Given the description of an element on the screen output the (x, y) to click on. 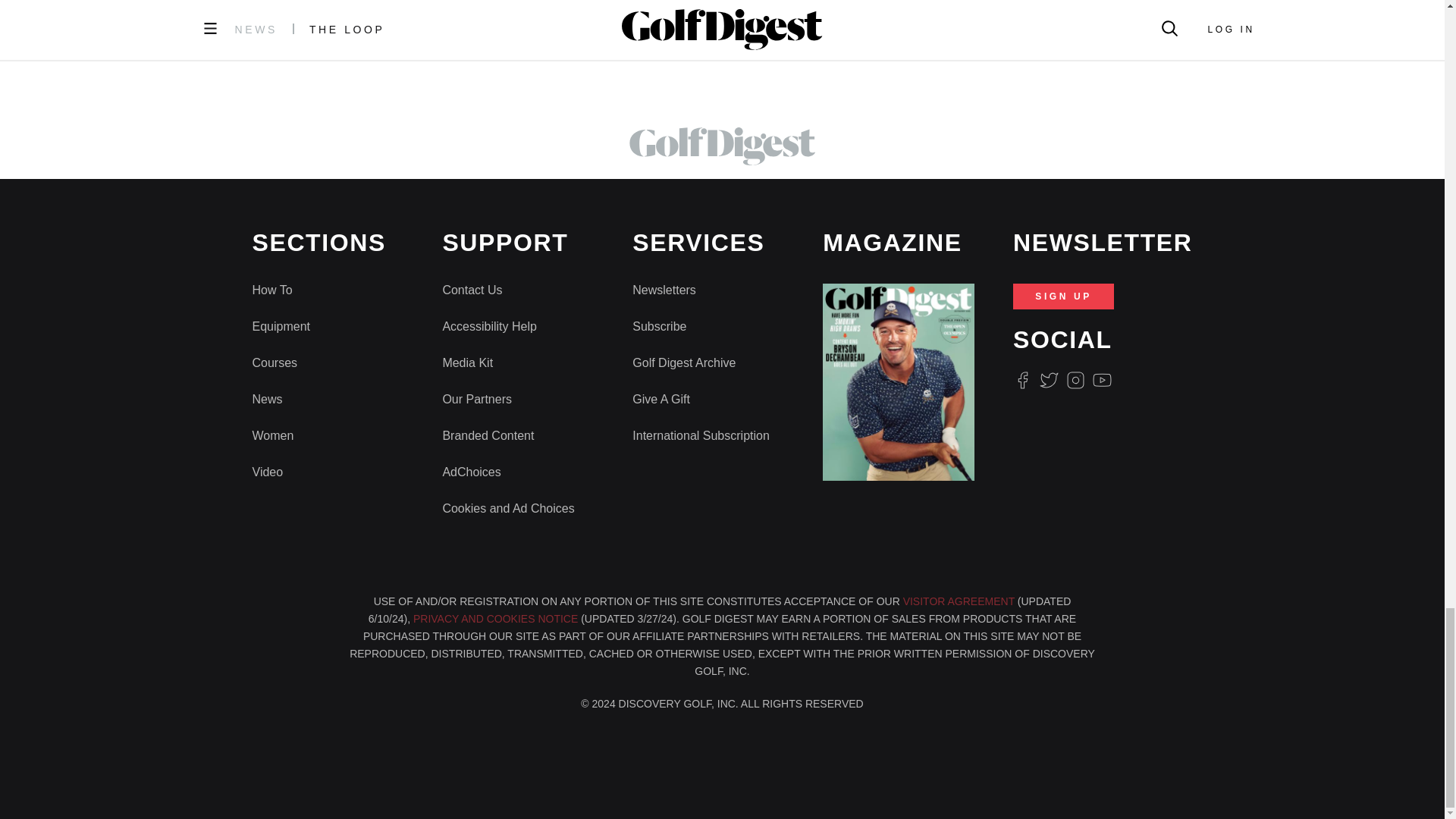
Twitter Logo (1048, 380)
Youtube Icon (1102, 380)
Instagram Logo (1074, 380)
Facebook Logo (1022, 380)
